Given the description of an element on the screen output the (x, y) to click on. 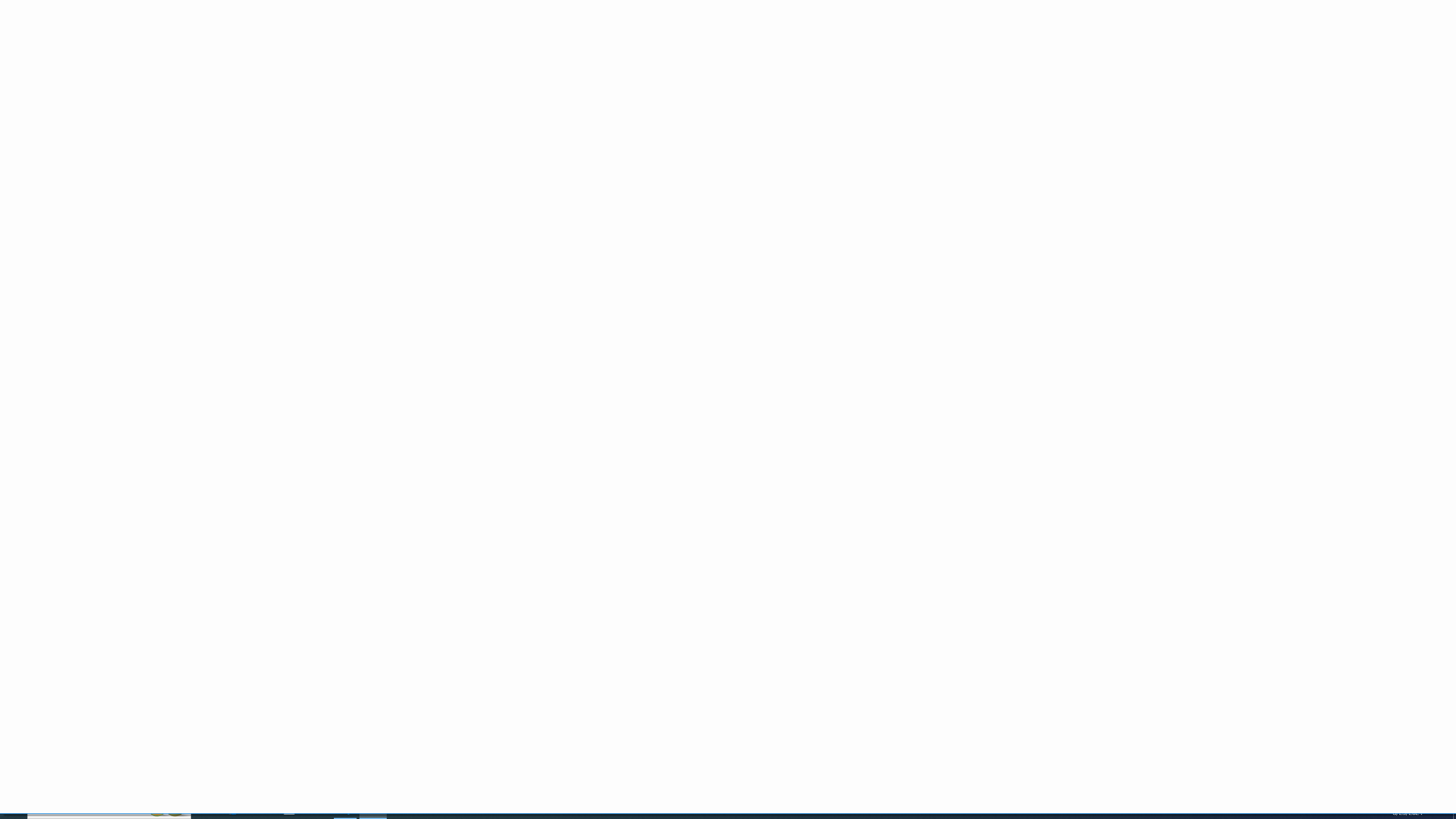
Merge & Center (369, 67)
Bold (104, 67)
Middle Align (276, 49)
Check Cell (611, 65)
Conditional Formatting (525, 58)
Copy (49, 58)
Row Down (887, 56)
